Given the description of an element on the screen output the (x, y) to click on. 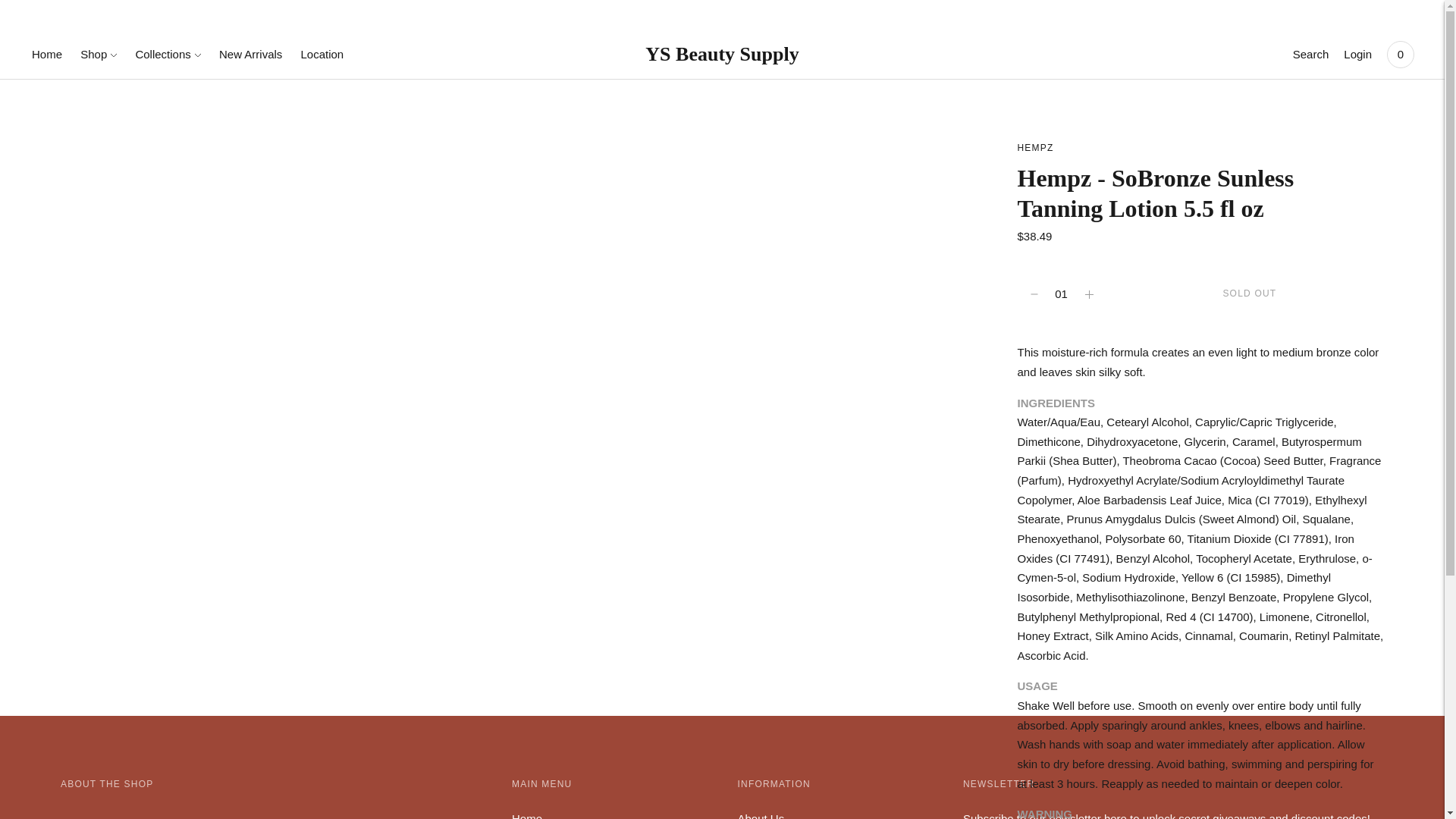
Shop (98, 54)
01 (1061, 294)
Home (47, 54)
Collections (167, 54)
Hempz (1035, 147)
